Given the description of an element on the screen output the (x, y) to click on. 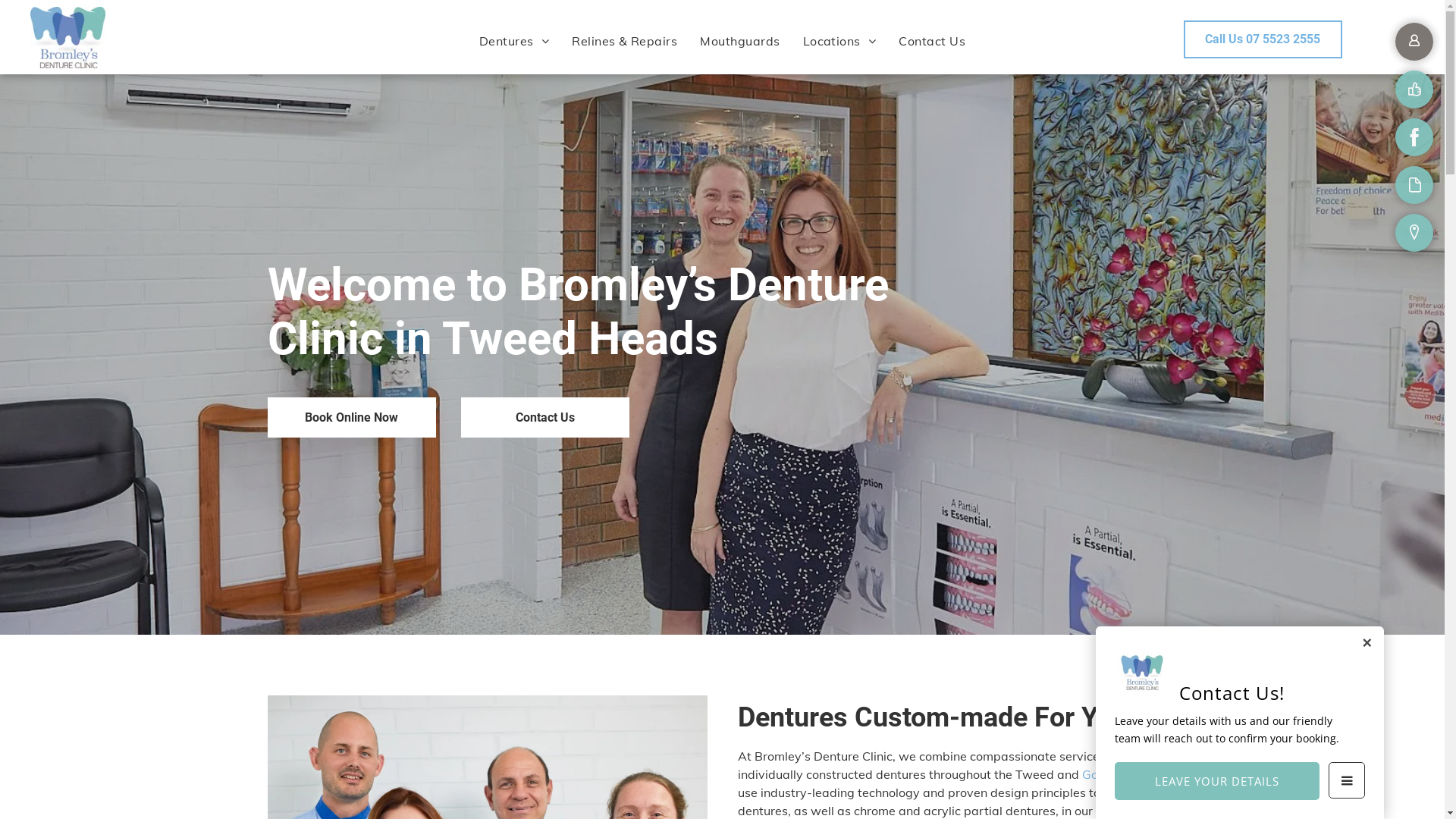
LEAVE YOUR DETAILS Element type: text (1216, 781)
Dentures Element type: text (513, 39)
Call Us 07 5523 2555 Element type: text (1262, 38)
Mouthguards Element type: text (739, 39)
Locations Element type: text (839, 39)
Contact Us Element type: text (545, 417)
Book Online Now Element type: text (350, 417)
Contact Us Element type: text (931, 39)
Relines & Repairs Element type: text (624, 39)
Gold Coast Element type: text (1112, 773)
